Given the description of an element on the screen output the (x, y) to click on. 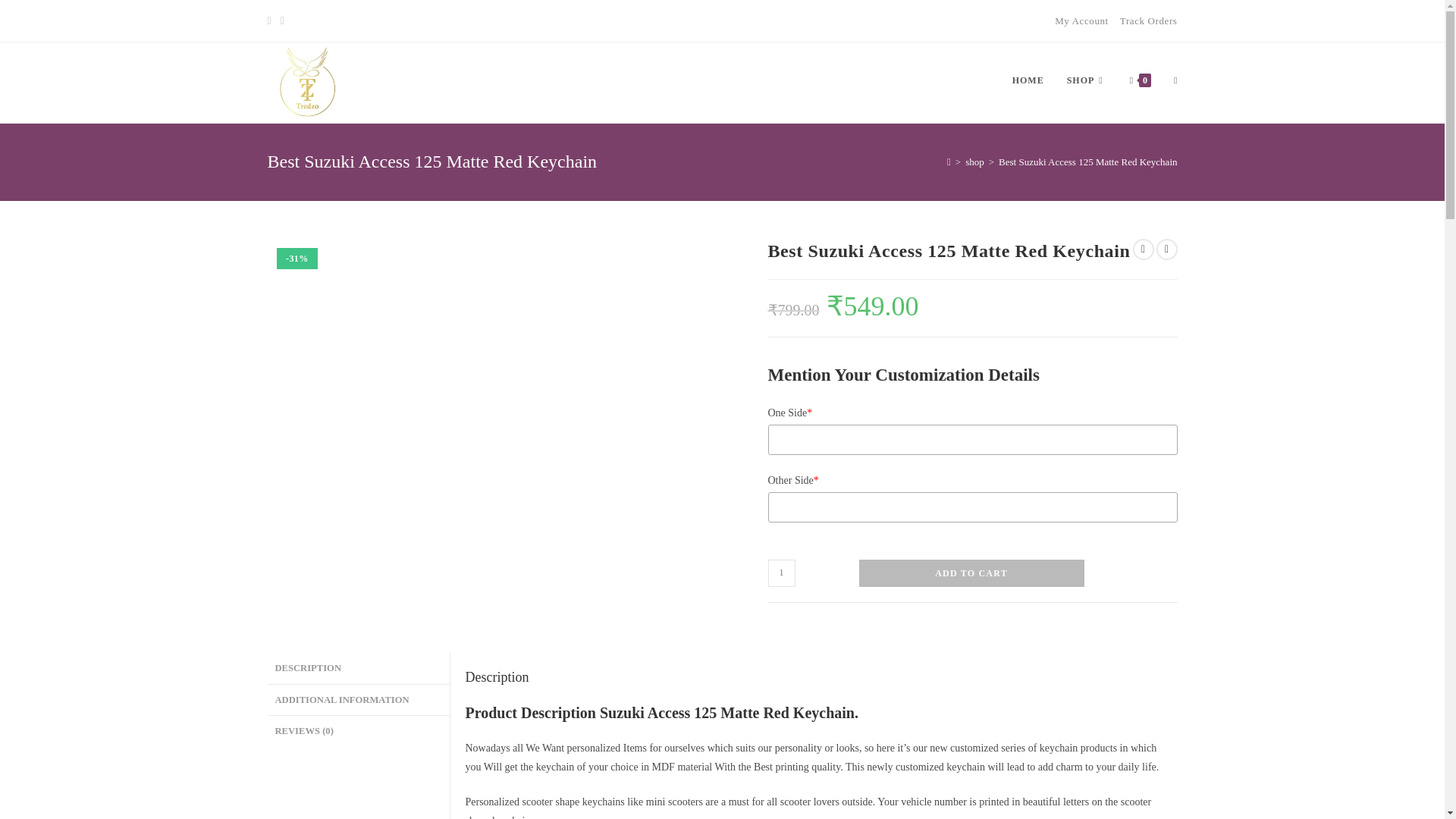
41343 (1104, 24)
My Account (1081, 20)
1 (780, 573)
Track Orders (1148, 20)
